Given the description of an element on the screen output the (x, y) to click on. 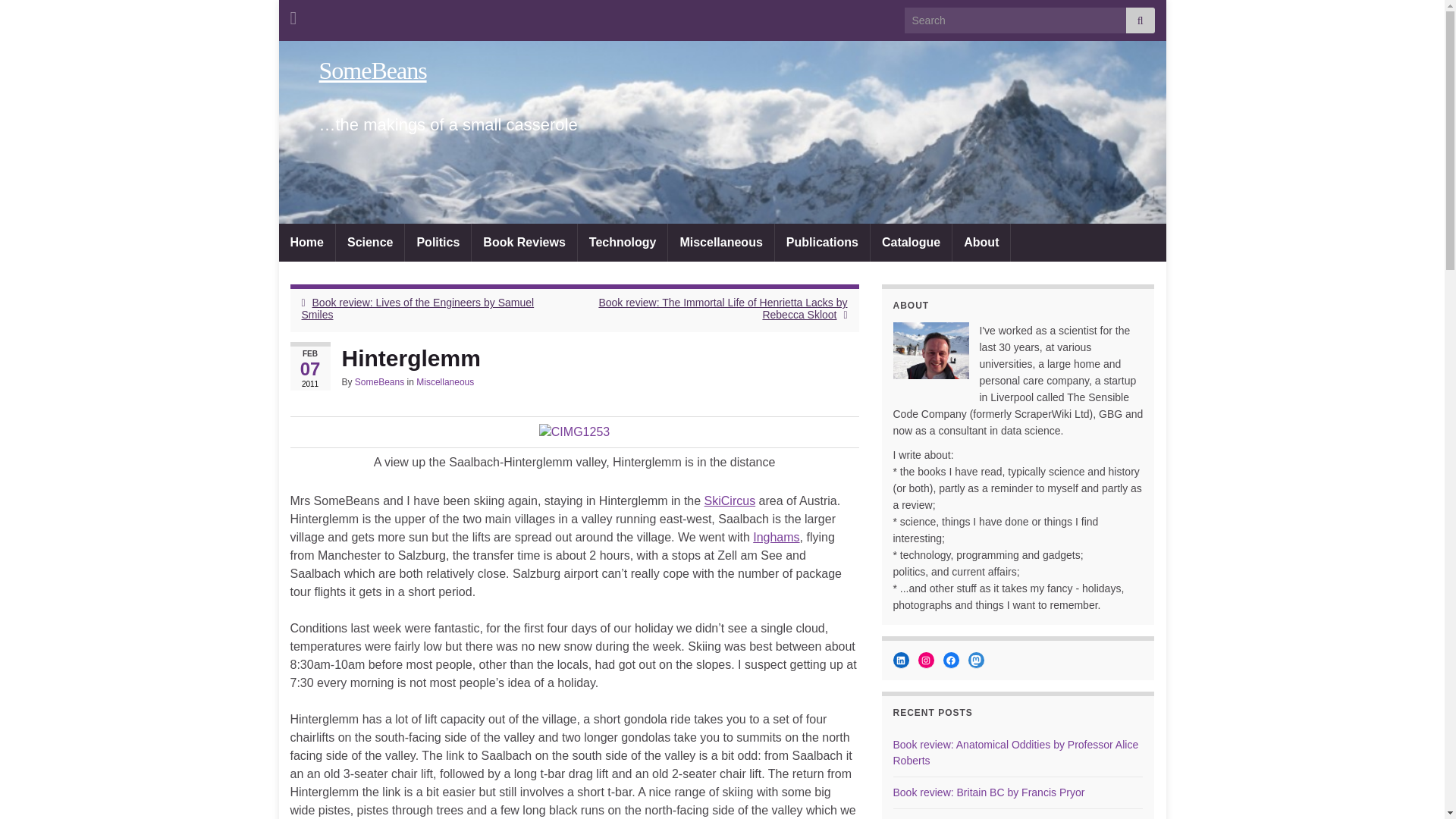
Miscellaneous (445, 381)
Book Reviews (523, 242)
Inghams (775, 536)
SomeBeans (379, 381)
CIMG1253 (574, 432)
Go back to the front page (372, 70)
Book review: Lives of the Engineers by Samuel Smiles (417, 308)
Publications (821, 242)
Technology (623, 242)
Science (370, 242)
IanHopkinson (931, 350)
SkiCircus (729, 500)
Catalogue (911, 242)
Home (306, 242)
